Given the description of an element on the screen output the (x, y) to click on. 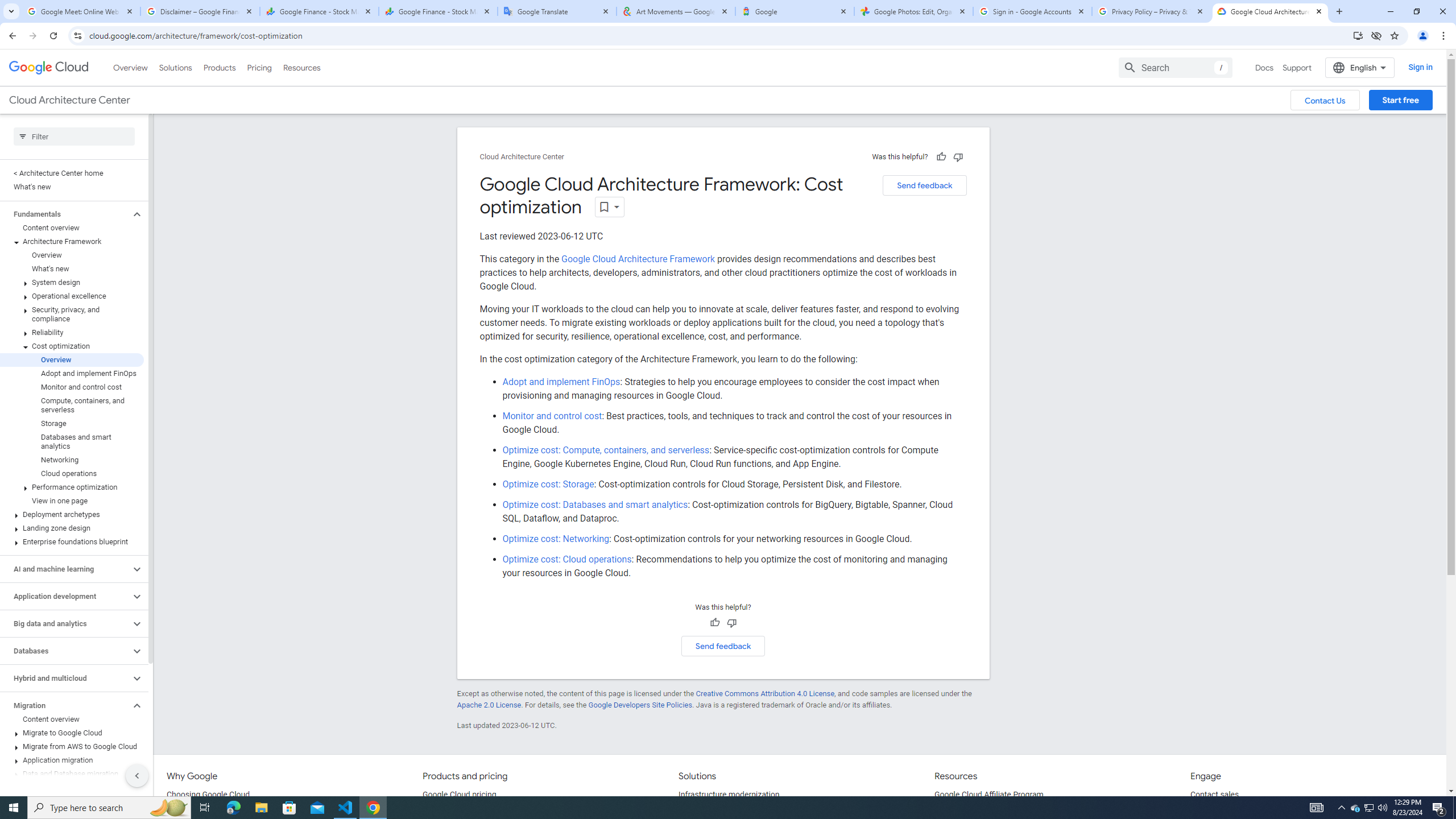
AI and machine learning (64, 568)
Content overview (72, 719)
Docs, selected (1264, 67)
Not helpful (731, 622)
Infrastructure modernization (729, 795)
Reliability (72, 332)
Fundamentals (64, 214)
Support (1296, 67)
Security, privacy, and compliance (72, 314)
Hide side navigation (136, 775)
